Given the description of an element on the screen output the (x, y) to click on. 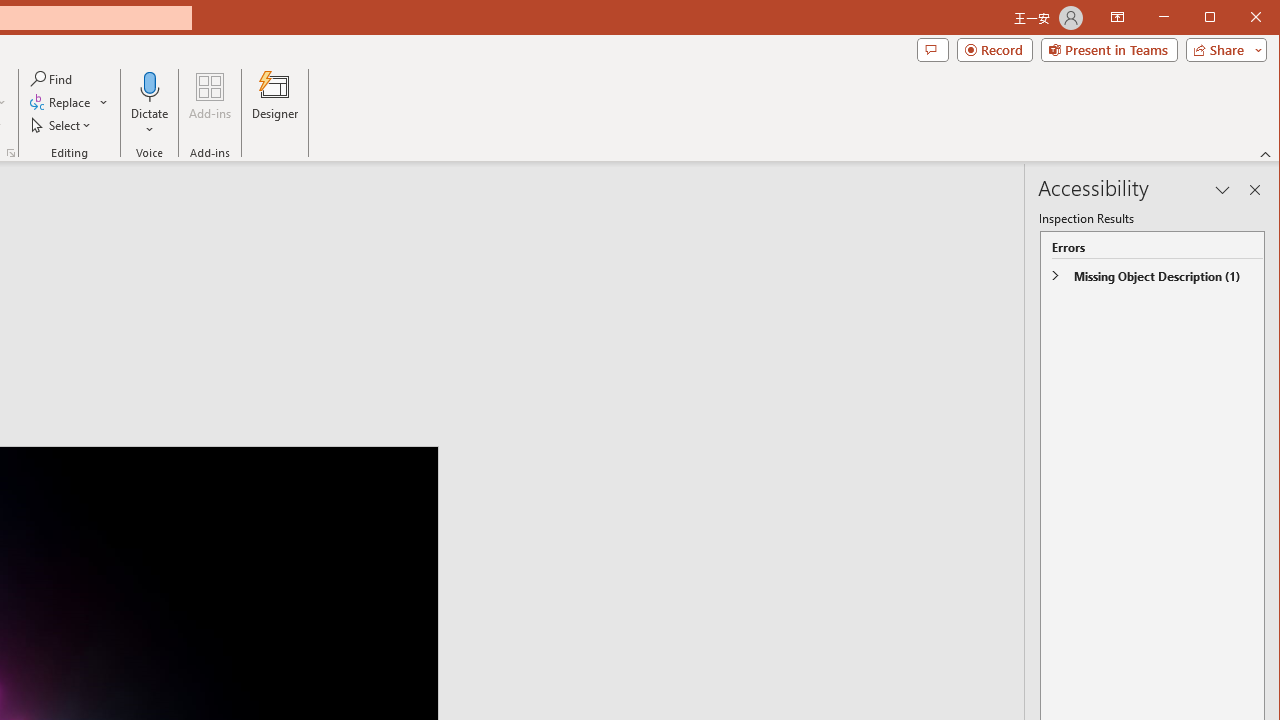
Find... (52, 78)
Maximize (1238, 18)
